Given the description of an element on the screen output the (x, y) to click on. 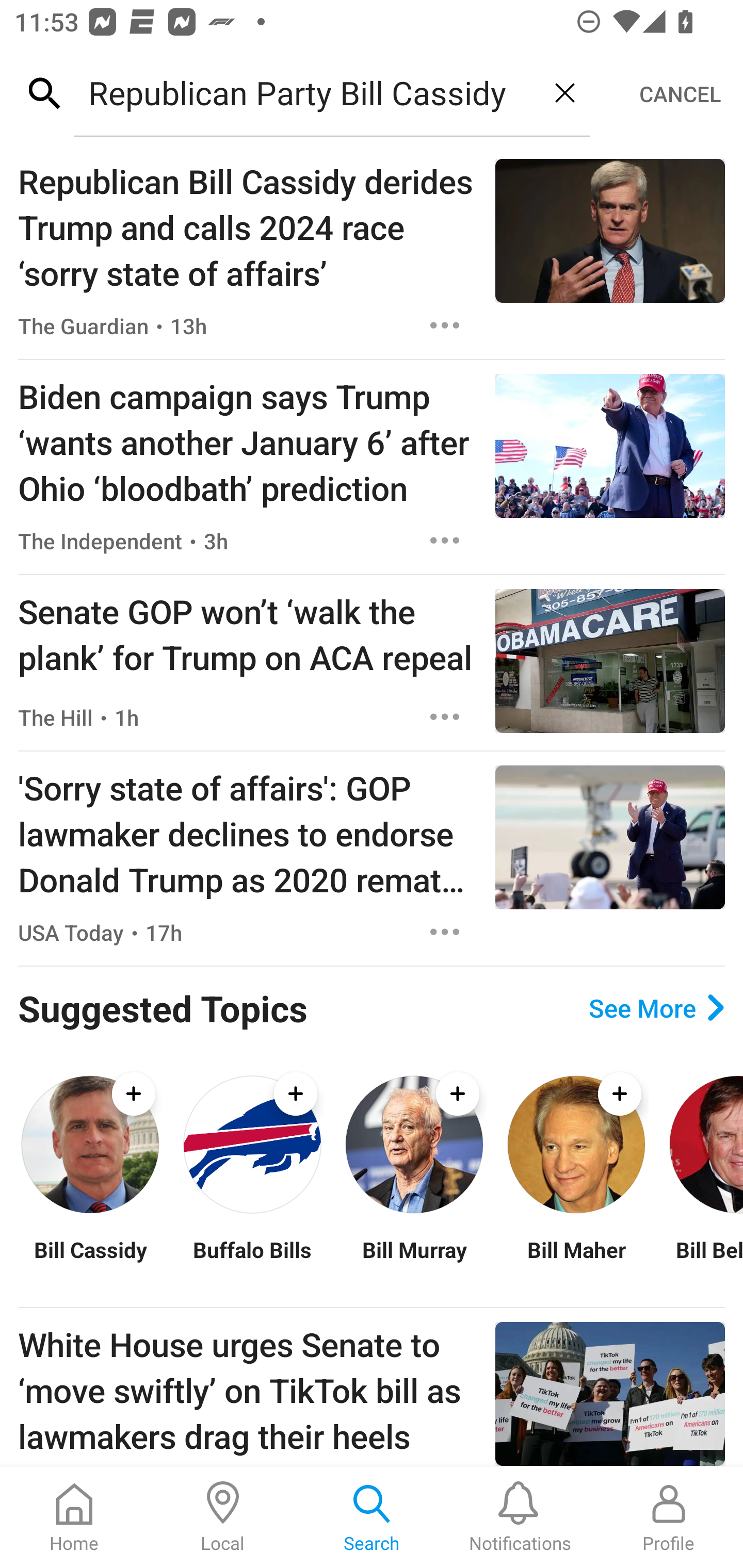
Clear query (564, 92)
CANCEL (680, 93)
Republican Party Bill Cassidy (306, 92)
Options (444, 325)
Options (444, 540)
Options (444, 716)
Options (444, 932)
See More (656, 1007)
Bill Cassidy (89, 1261)
Buffalo Bills (251, 1261)
Bill Murray (413, 1261)
Bill Maher (575, 1261)
Home (74, 1517)
Local (222, 1517)
Notifications (519, 1517)
Profile (668, 1517)
